Given the description of an element on the screen output the (x, y) to click on. 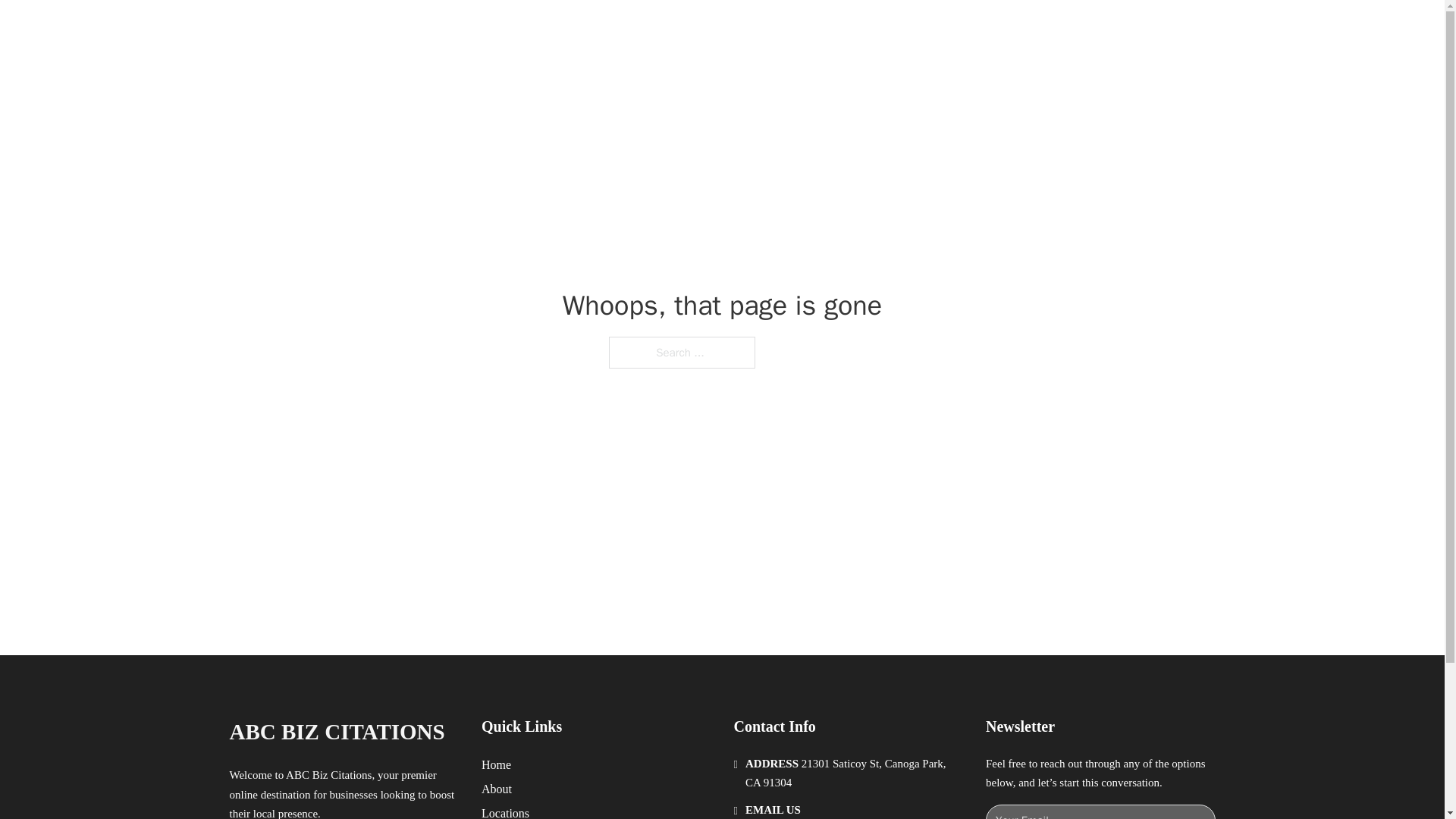
About (496, 788)
Home (496, 764)
Locations (505, 811)
ABC BIZ CITATIONS (336, 732)
ABC BIZ CITATIONS (406, 28)
